Given the description of an element on the screen output the (x, y) to click on. 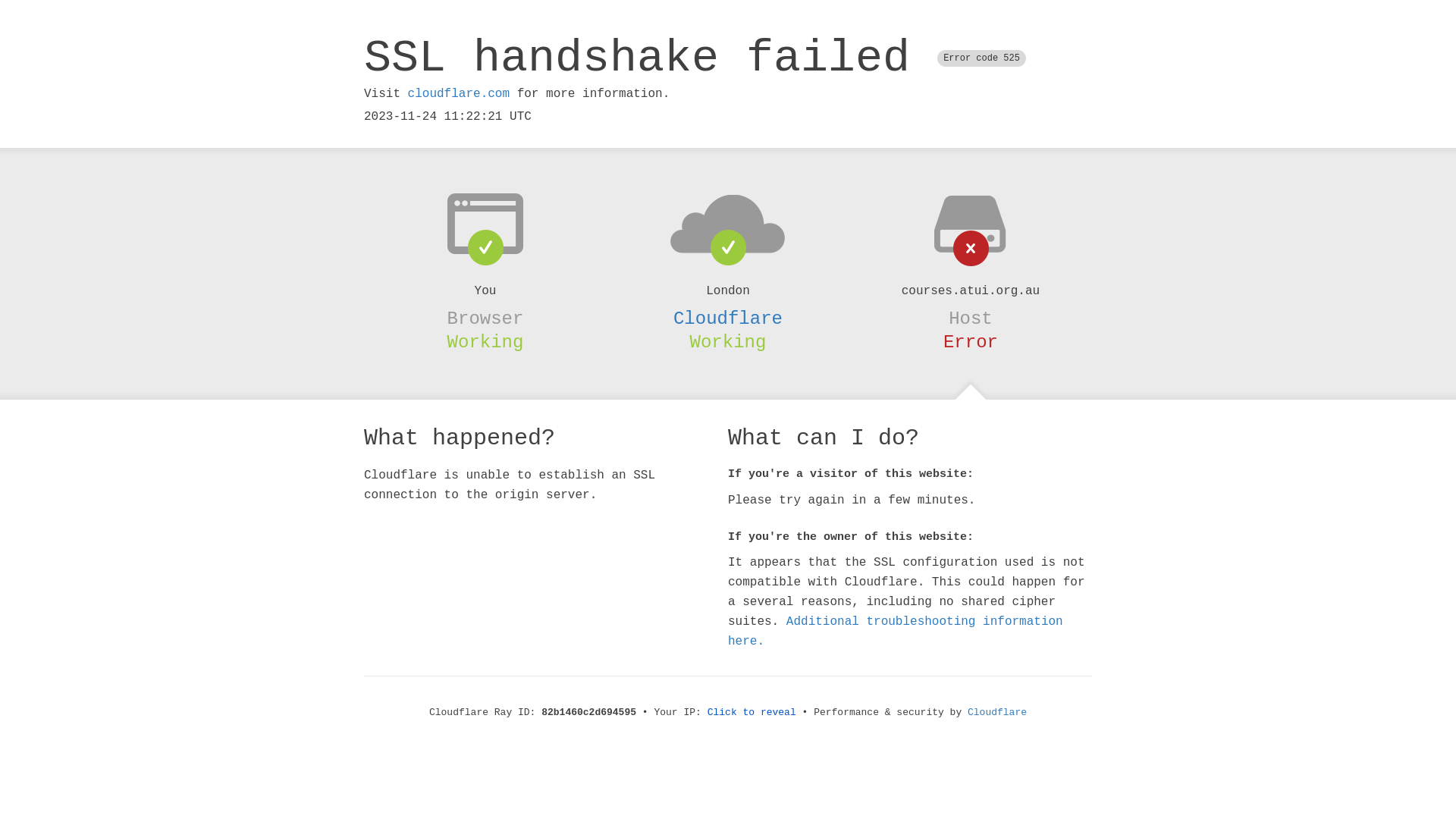
Additional troubleshooting information here. Element type: text (895, 631)
Click to reveal Element type: text (751, 712)
Cloudflare Element type: text (727, 318)
Cloudflare Element type: text (996, 712)
cloudflare.com Element type: text (458, 93)
